Given the description of an element on the screen output the (x, y) to click on. 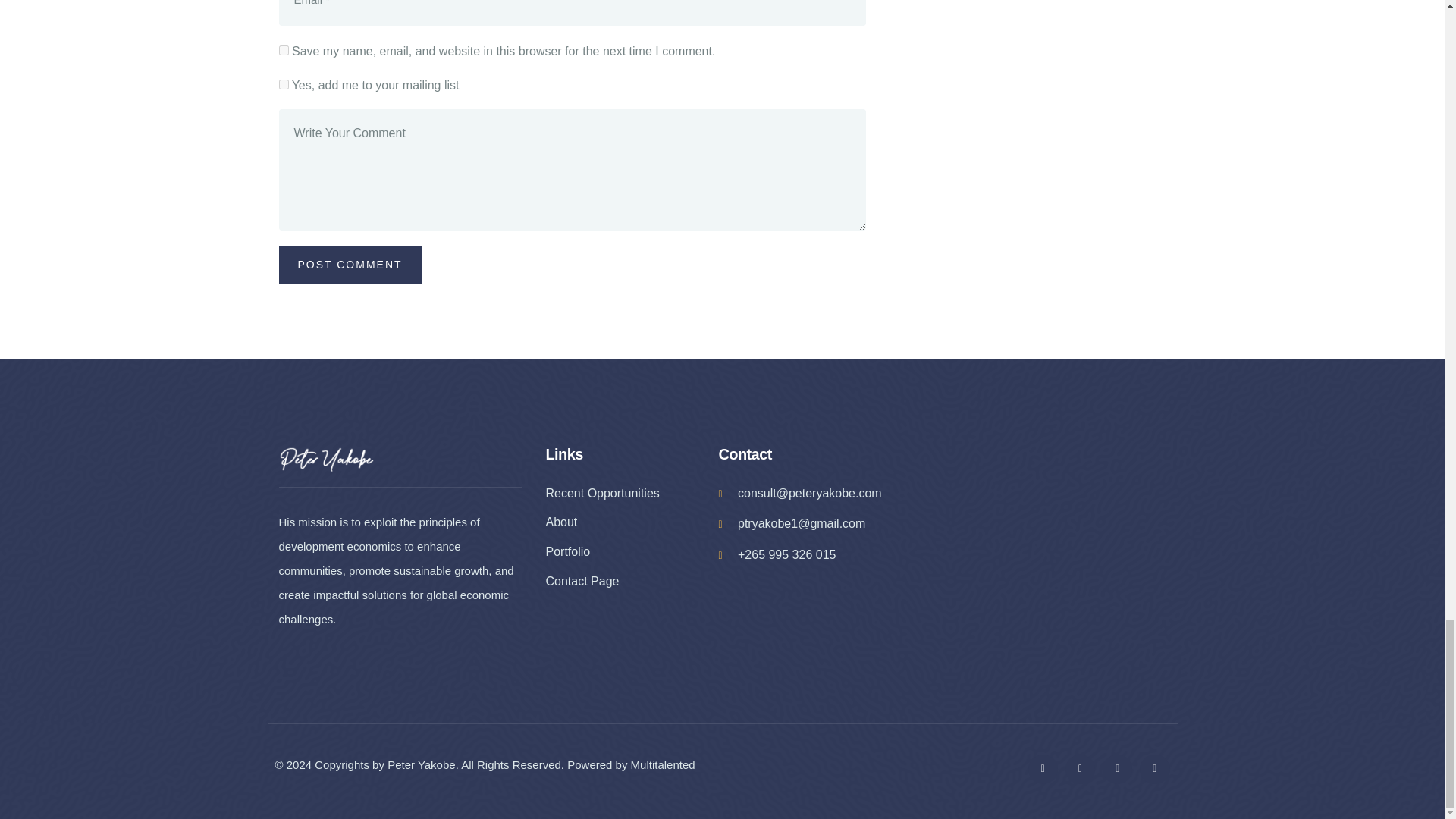
Post Comment (350, 264)
1 (283, 84)
Home (326, 458)
Post Comment (350, 264)
yes (283, 50)
